Given the description of an element on the screen output the (x, y) to click on. 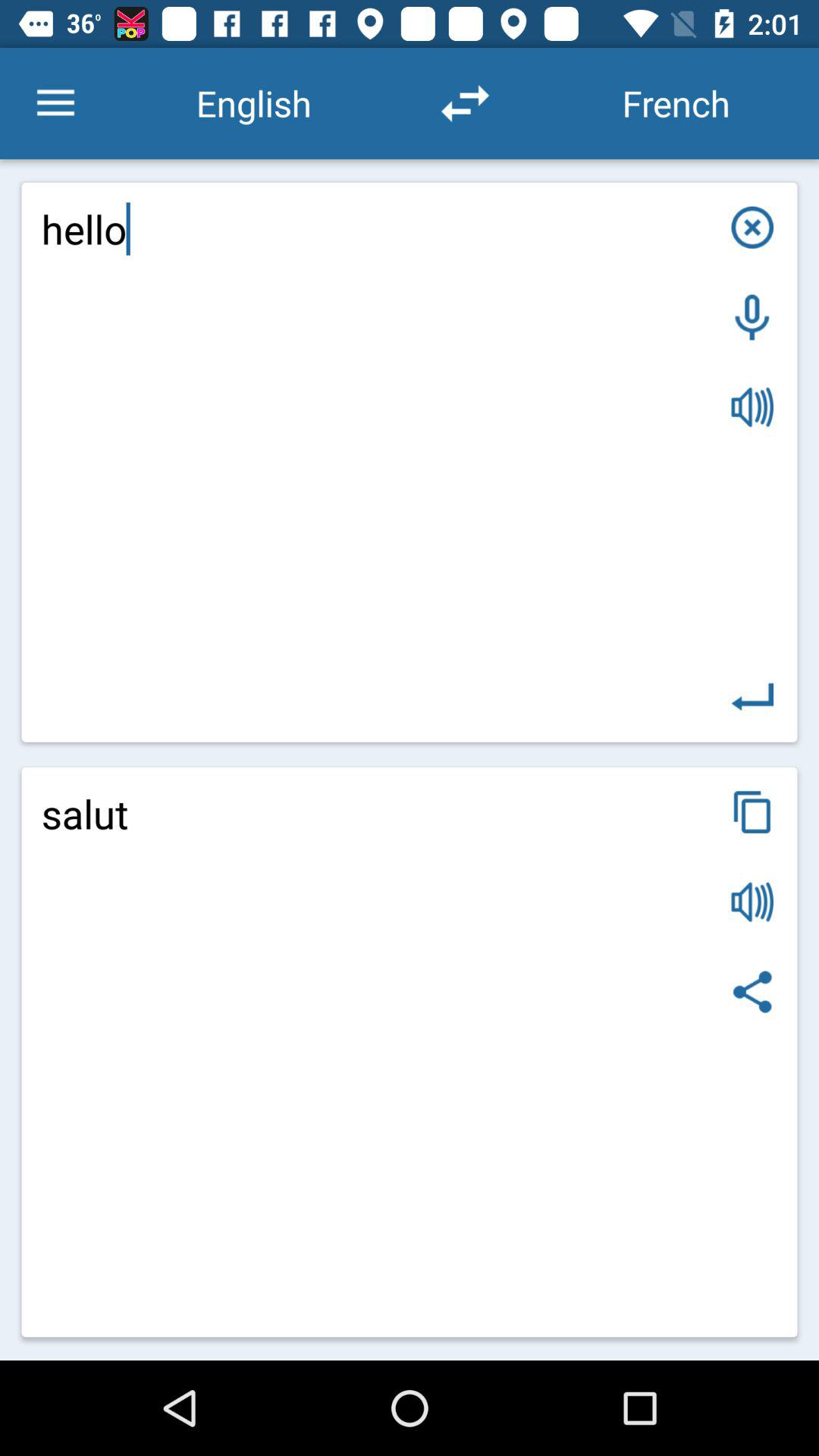
press the icon above salut icon (409, 462)
